Given the description of an element on the screen output the (x, y) to click on. 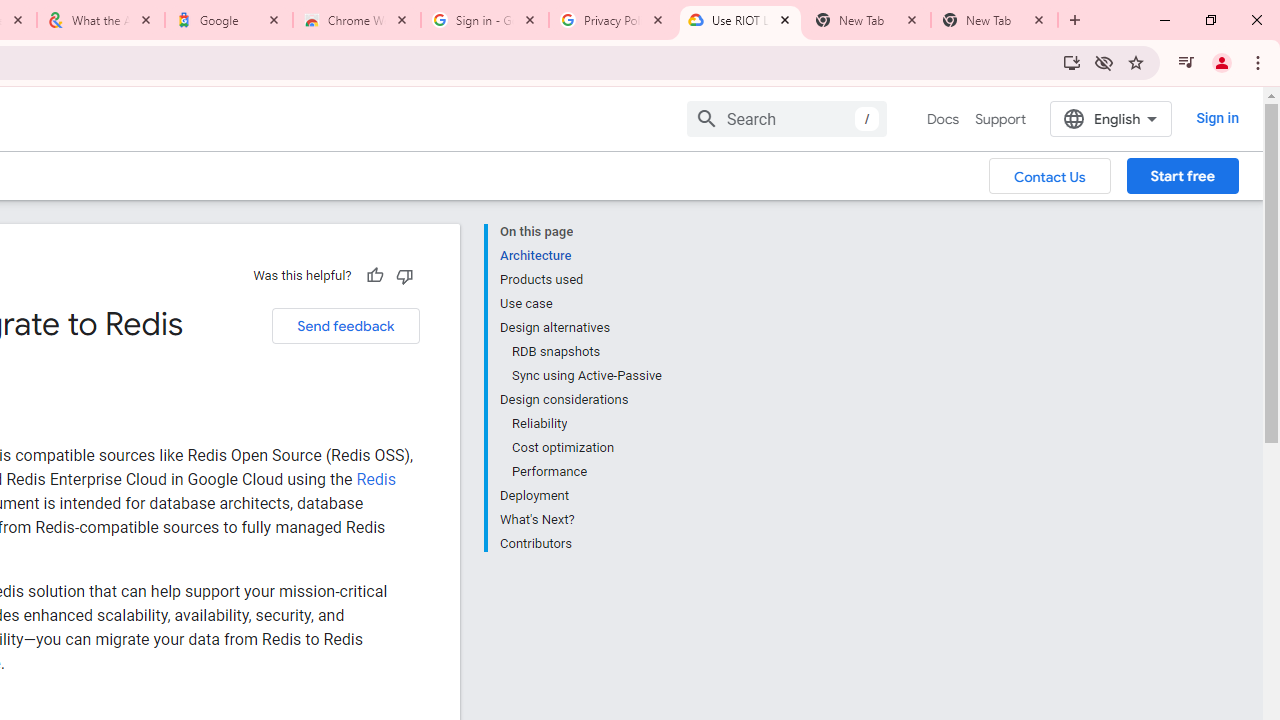
Install Google Cloud (1071, 62)
Send feedback (345, 326)
Performance (585, 471)
Use case (580, 304)
What's Next? (580, 520)
Docs, selected (942, 119)
Products used (580, 279)
New Tab (994, 20)
Sign in - Google Accounts (485, 20)
Deployment (580, 495)
